Given the description of an element on the screen output the (x, y) to click on. 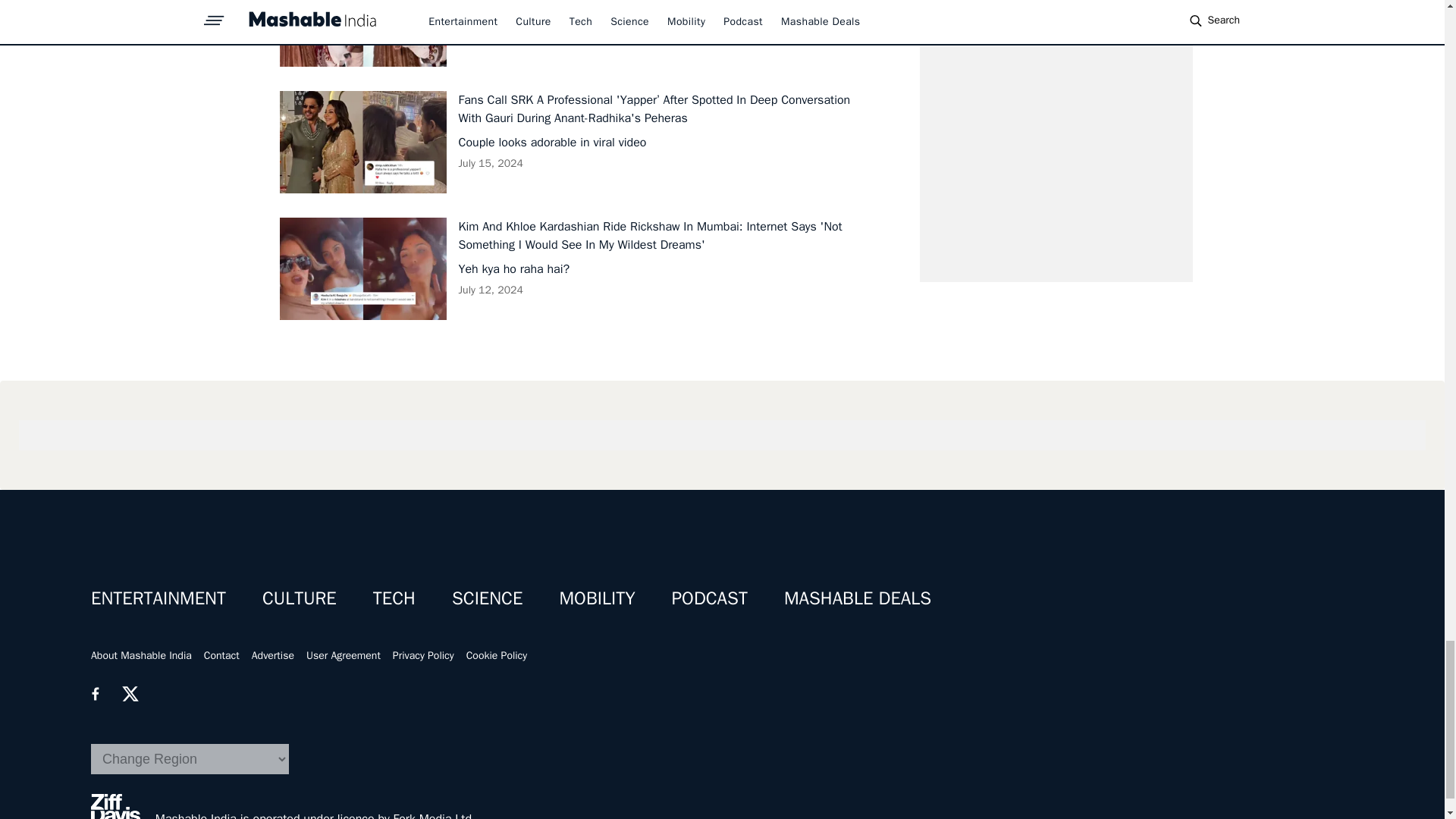
ENTERTAINMENT (157, 598)
